Given the description of an element on the screen output the (x, y) to click on. 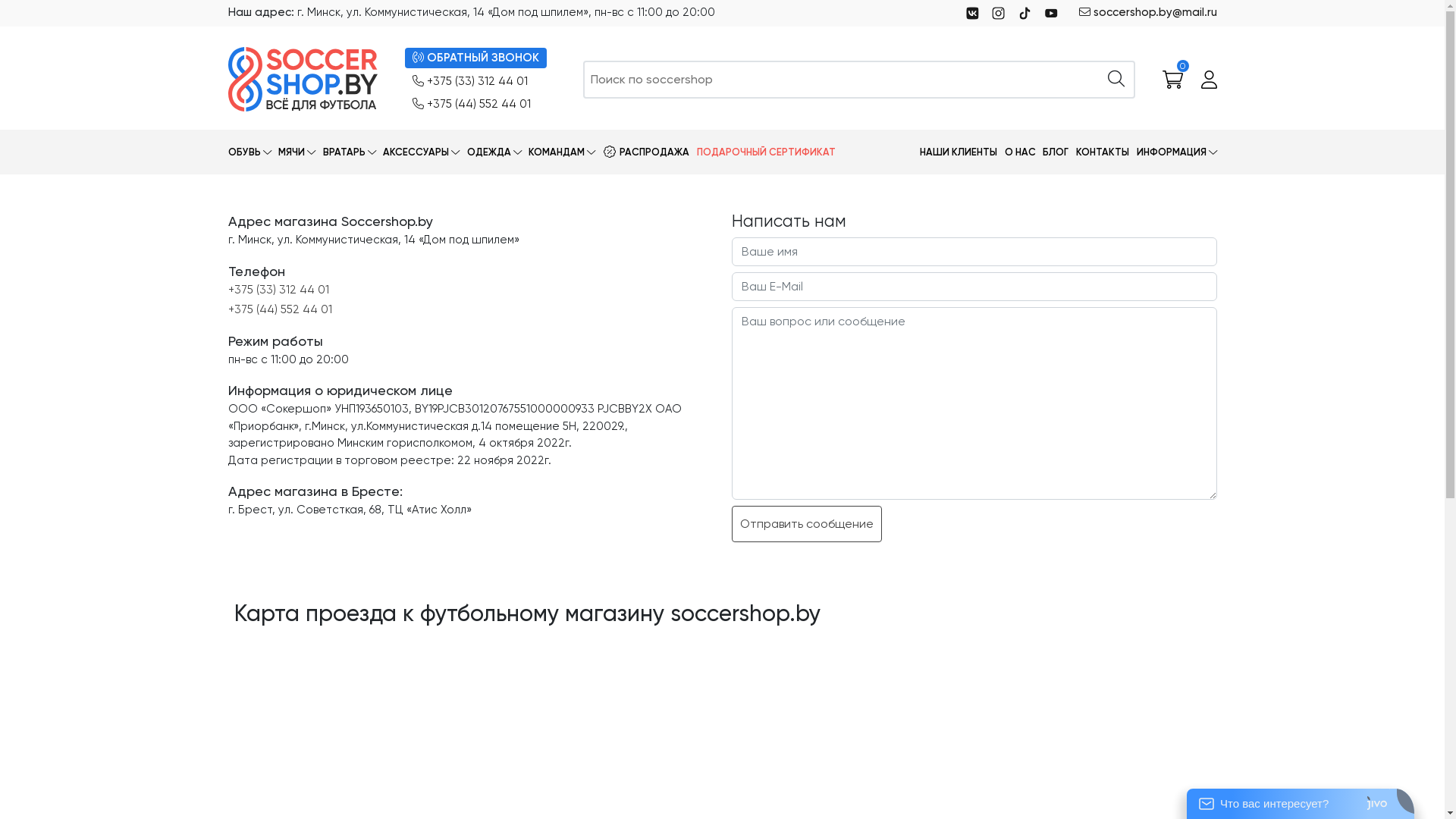
+375 (44) 552 44 01 Element type: text (279, 309)
+375 (44) 552 44 01 Element type: text (471, 104)
+375 (33) 312 44 01 Element type: text (469, 81)
0 Element type: text (1171, 79)
Soccershop.by Element type: hover (301, 79)
soccershop.by@mail.ru Element type: text (1147, 12)
+375 (33) 312 44 01 Element type: text (277, 289)
